Given the description of an element on the screen output the (x, y) to click on. 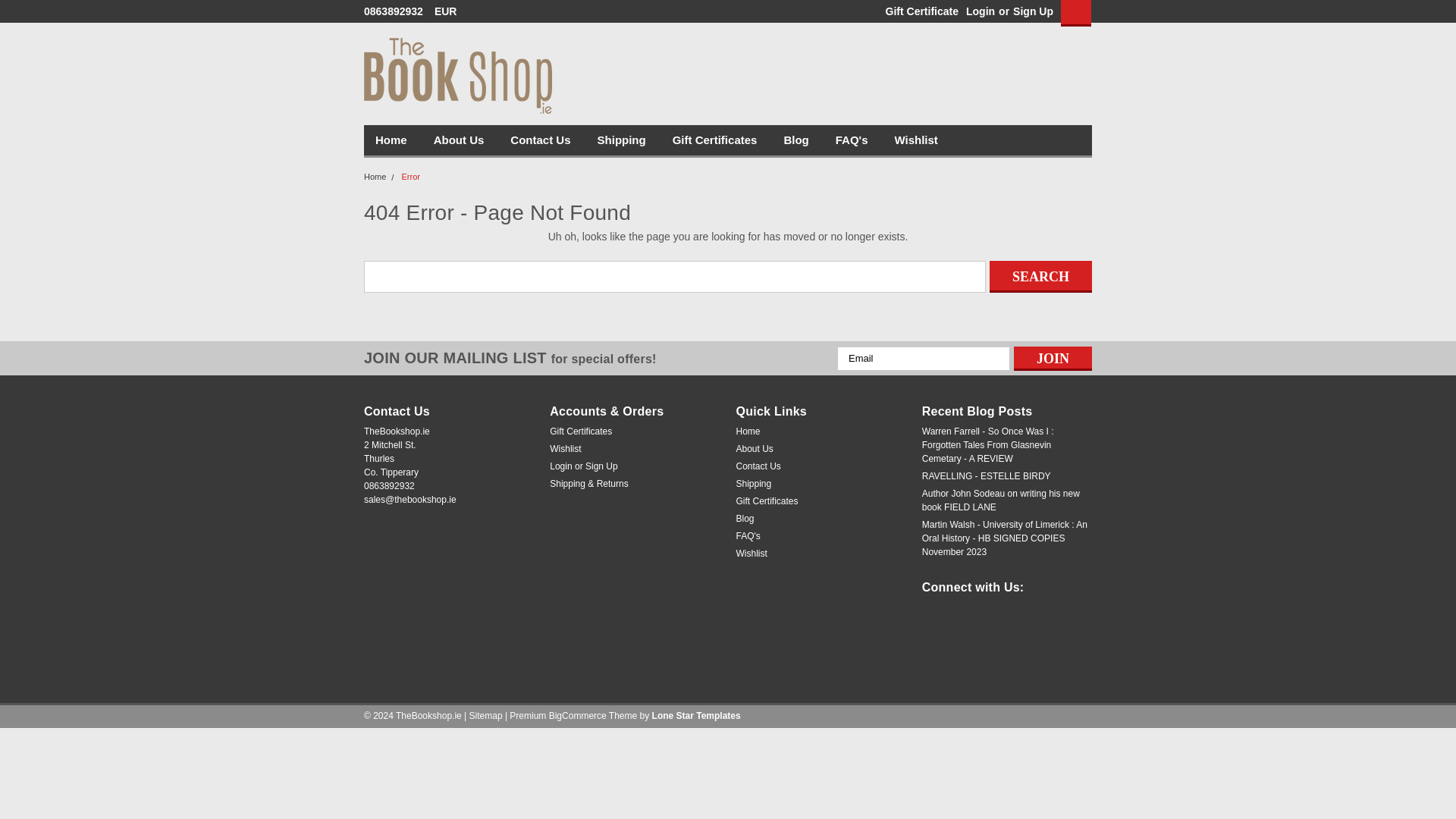
Gift Certificate (917, 11)
Login (980, 11)
Sign Up (1030, 11)
EUR (450, 11)
Currency Selector (450, 11)
Search (1041, 276)
Join (1052, 357)
TheBookshop.ie (457, 75)
